Given the description of an element on the screen output the (x, y) to click on. 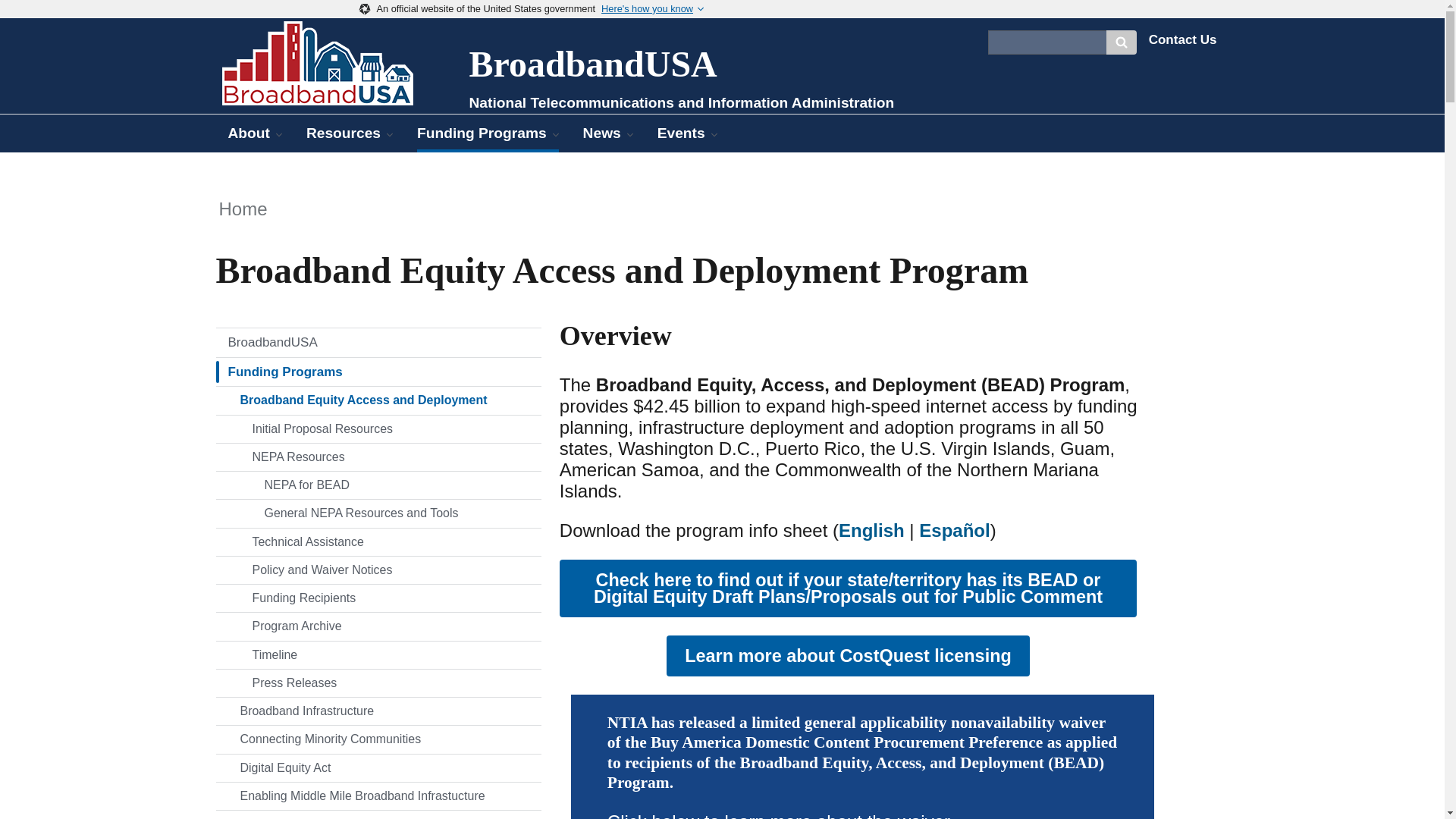
Here's how you know (652, 9)
Initial Proposal Resources (377, 429)
About (254, 133)
Funding Programs (377, 371)
NEPA Resources (377, 456)
Press Releases (377, 682)
Policy and Waiver Notices (377, 569)
Broadband Equity Access and Deployment (377, 400)
Technical Assistance (377, 542)
Enabling Middle Mile Broadband Infrastucture (377, 795)
